Given the description of an element on the screen output the (x, y) to click on. 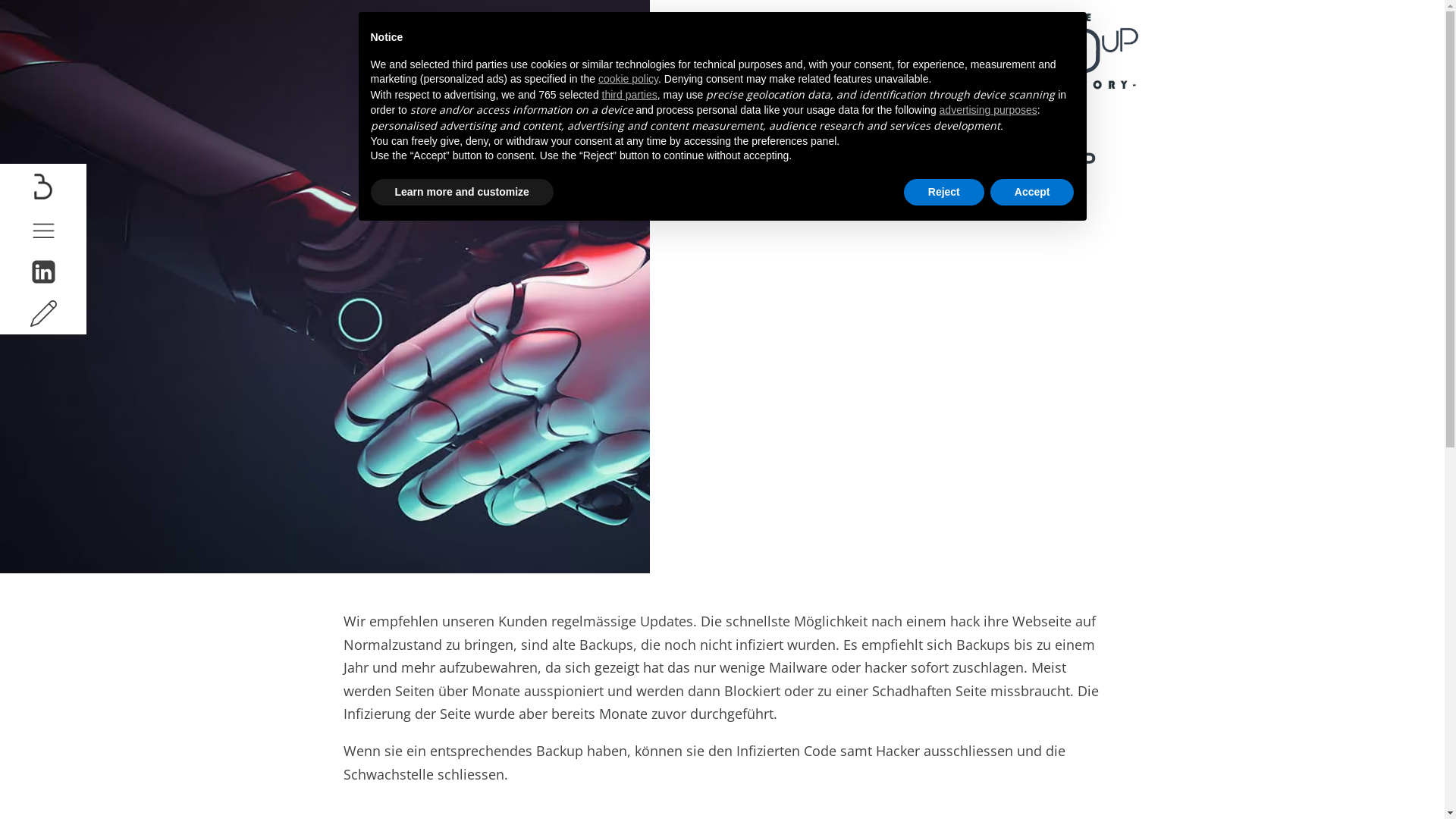
cookie policy Element type: text (628, 78)
Accept Element type: text (1032, 192)
Reject Element type: text (943, 192)
third parties Element type: text (629, 94)
advertising purposes Element type: text (988, 109)
Learn more and customize Element type: text (461, 192)
